Given the description of an element on the screen output the (x, y) to click on. 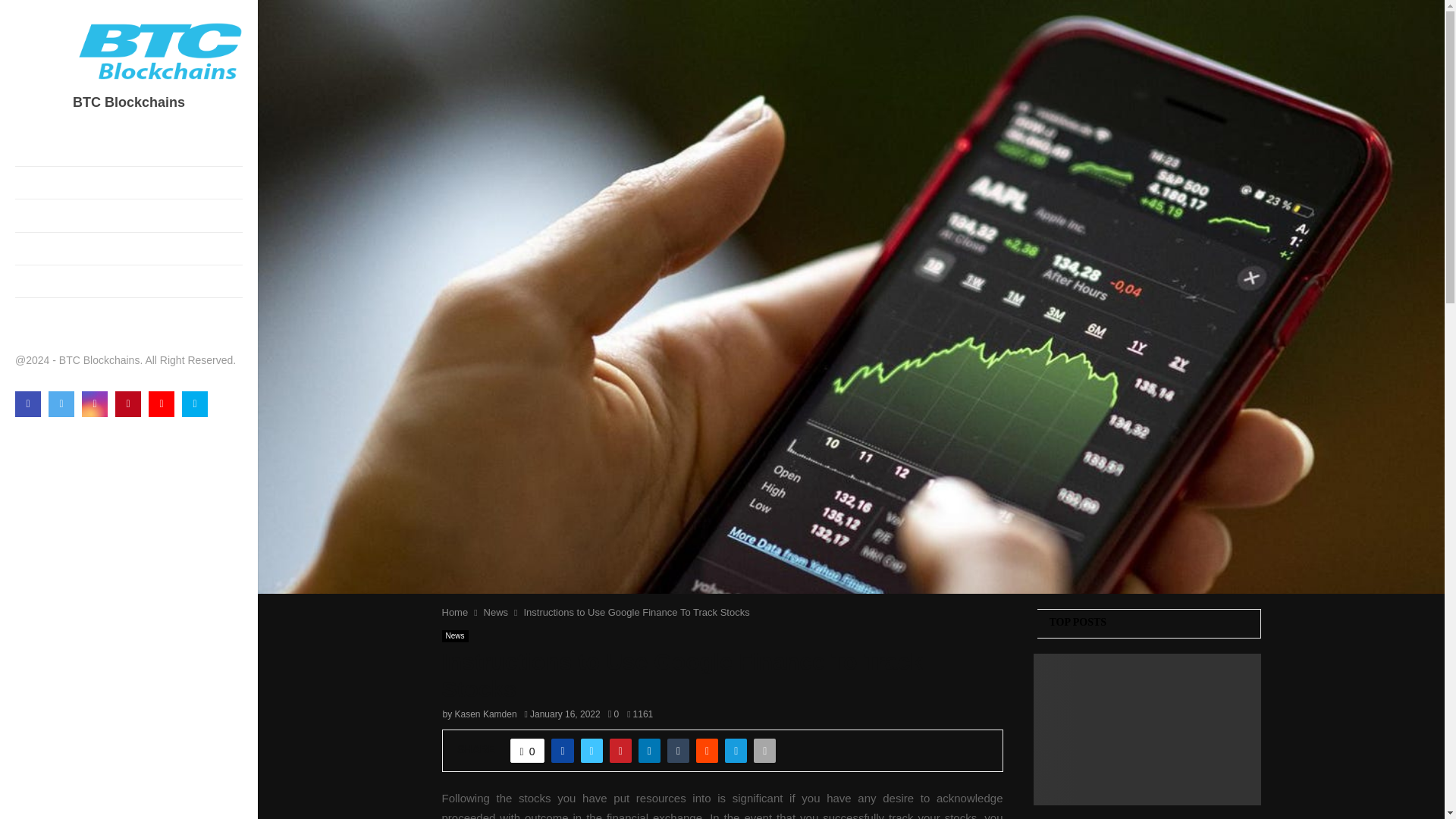
Kasen Kamden (485, 713)
BITCOIN (128, 150)
CRYPTO TRADING (128, 248)
Vimeo (195, 403)
News (495, 612)
Home (454, 612)
Youtube (161, 403)
Like (527, 750)
NEWS (128, 314)
Facebook (27, 403)
